Given the description of an element on the screen output the (x, y) to click on. 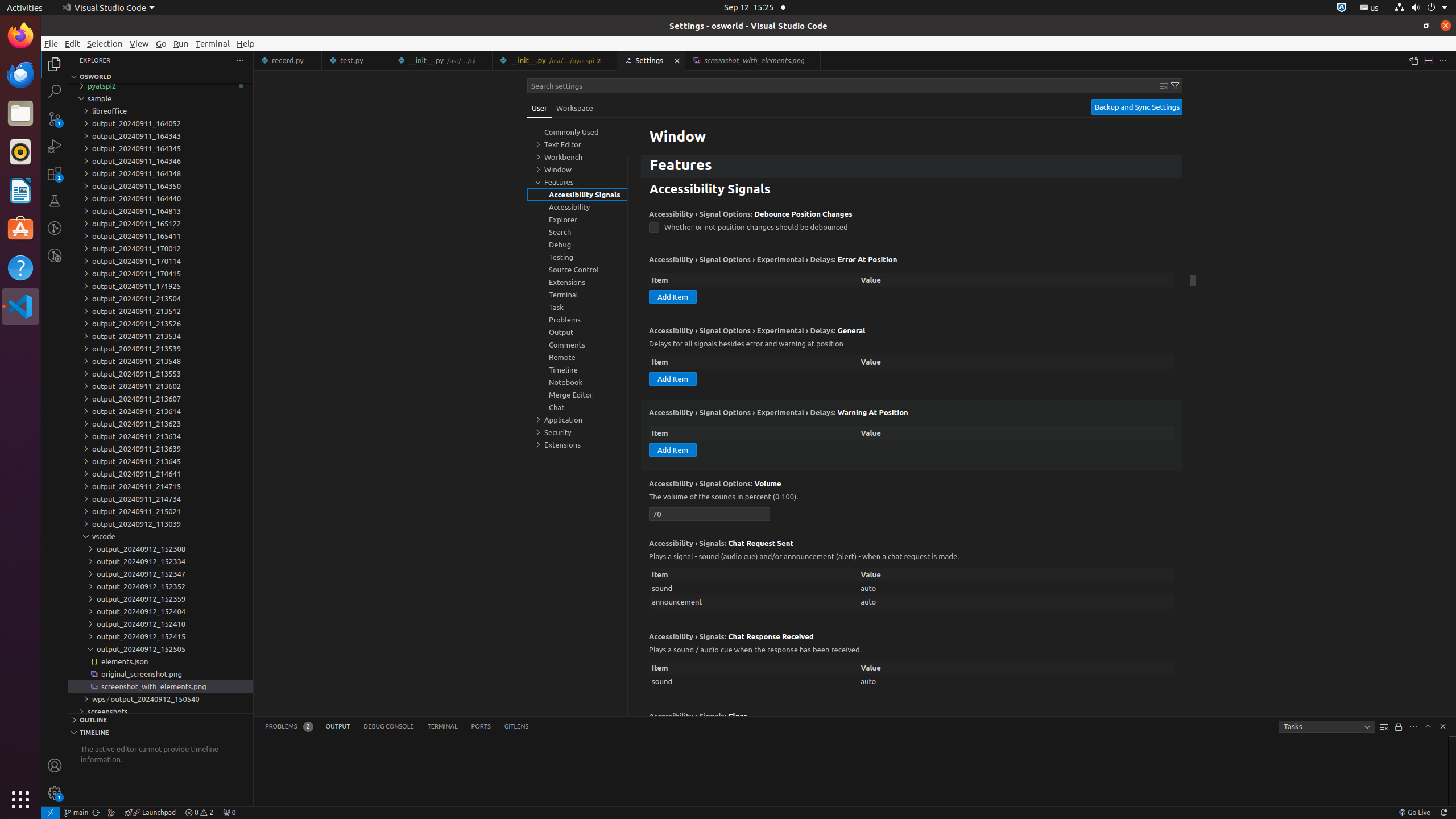
accessibility.signalOptions.debouncePositionChanges Element type: check-box (653, 227)
Workbench, group Element type: tree-item (577, 156)
Source Control (Ctrl+Shift+G G) - 1 pending changes Source Control (Ctrl+Shift+G G) - 1 pending changes Element type: page-tab (54, 118)
output_20240912_152505 Element type: tree-item (160, 648)
Maximize Panel Size Element type: check-box (1427, 726)
